Given the description of an element on the screen output the (x, y) to click on. 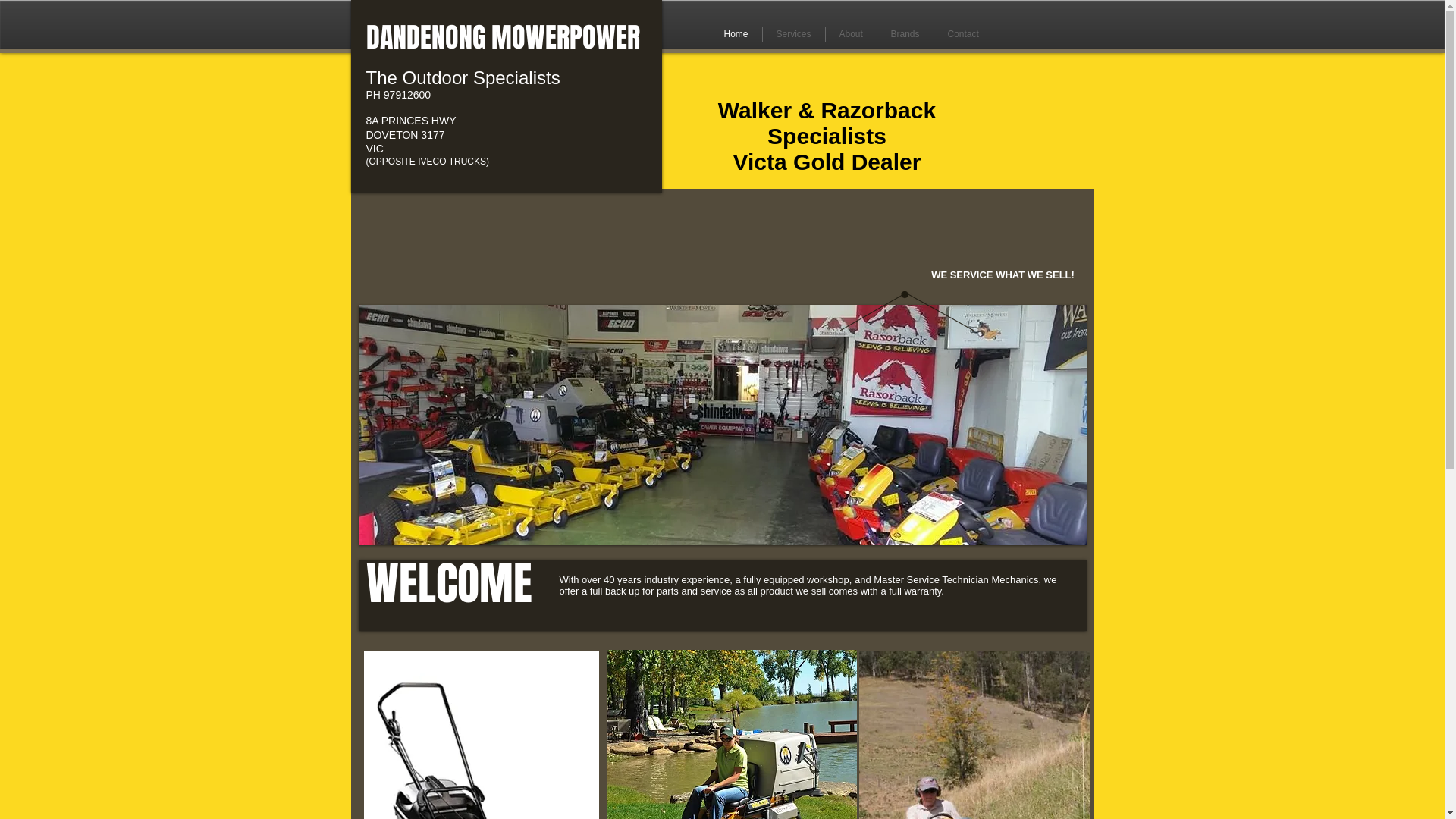
Brands Element type: text (904, 34)
About Element type: text (850, 34)
Contact Element type: text (963, 34)
Home Element type: text (735, 34)
Services Element type: text (793, 34)
10420313_792585137469423_2403138512792051207_n.jpg Element type: hover (721, 424)
